Given the description of an element on the screen output the (x, y) to click on. 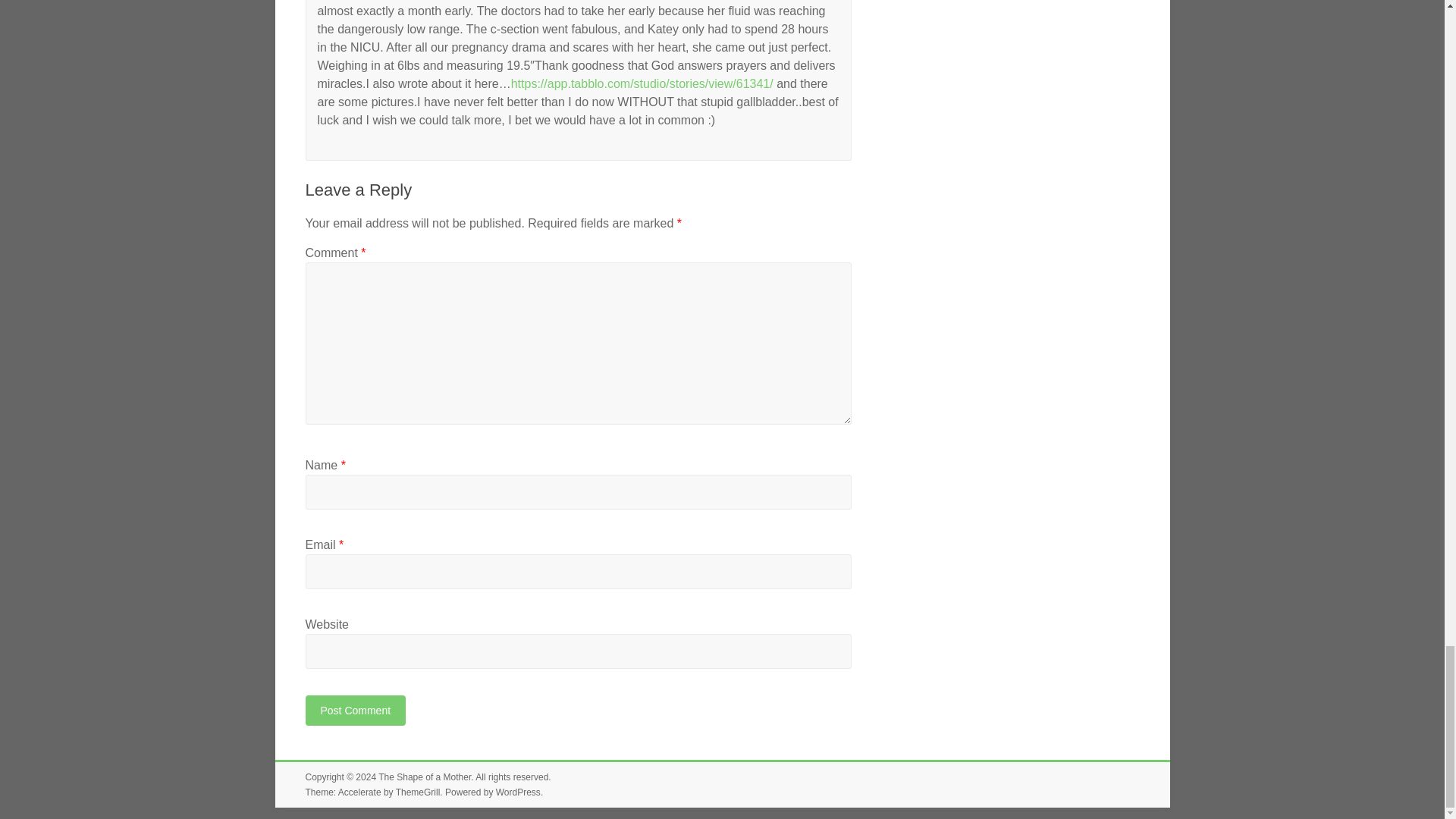
Accelerate (359, 792)
WordPress (518, 792)
The Shape of a Mother (424, 777)
Post Comment (355, 710)
